Given the description of an element on the screen output the (x, y) to click on. 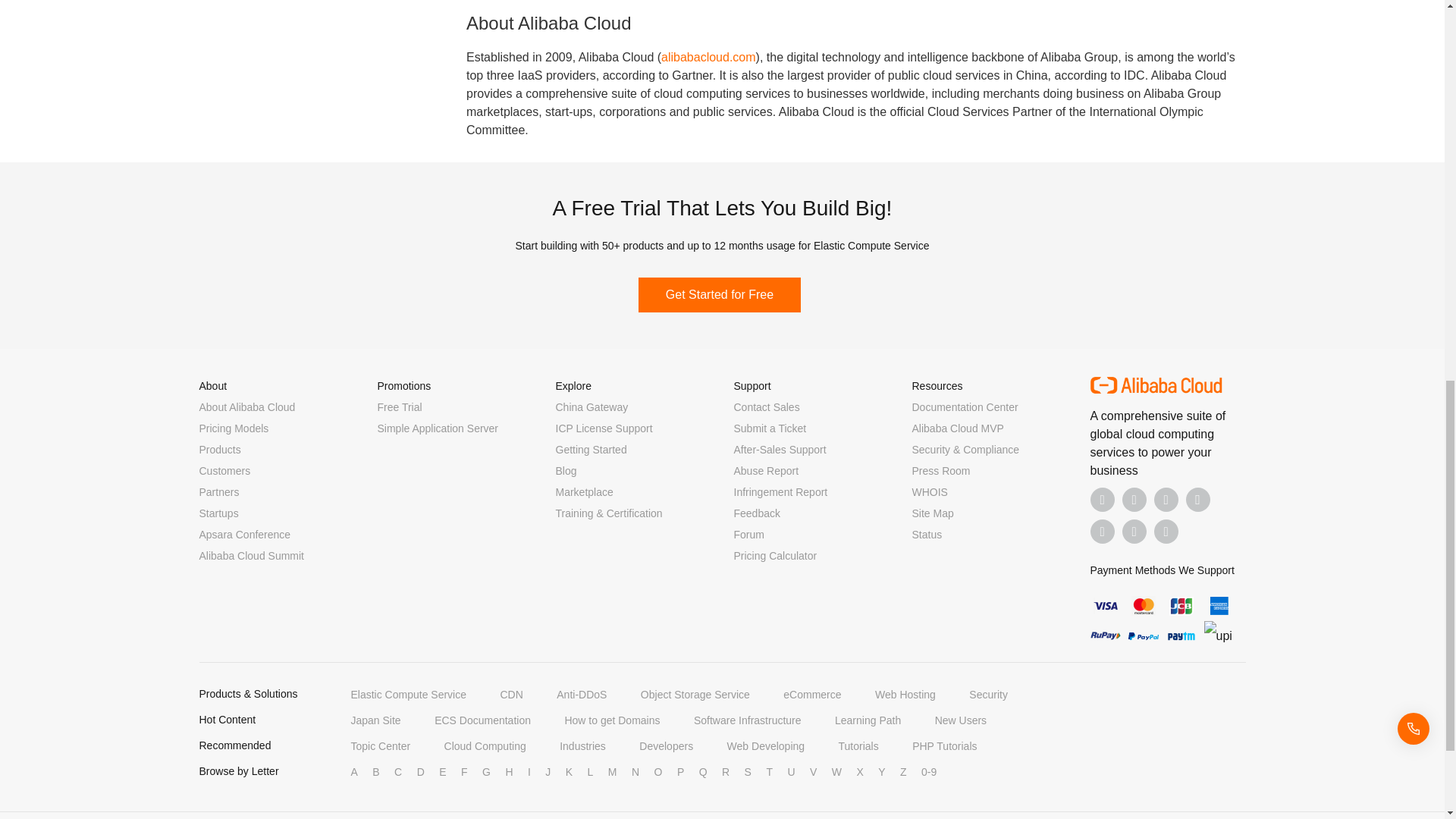
YouTube (1197, 499)
Facebook (1102, 499)
TikTok (1102, 531)
Call Us Now (1165, 531)
Twitter (1165, 499)
Linkedin (1134, 499)
